Given the description of an element on the screen output the (x, y) to click on. 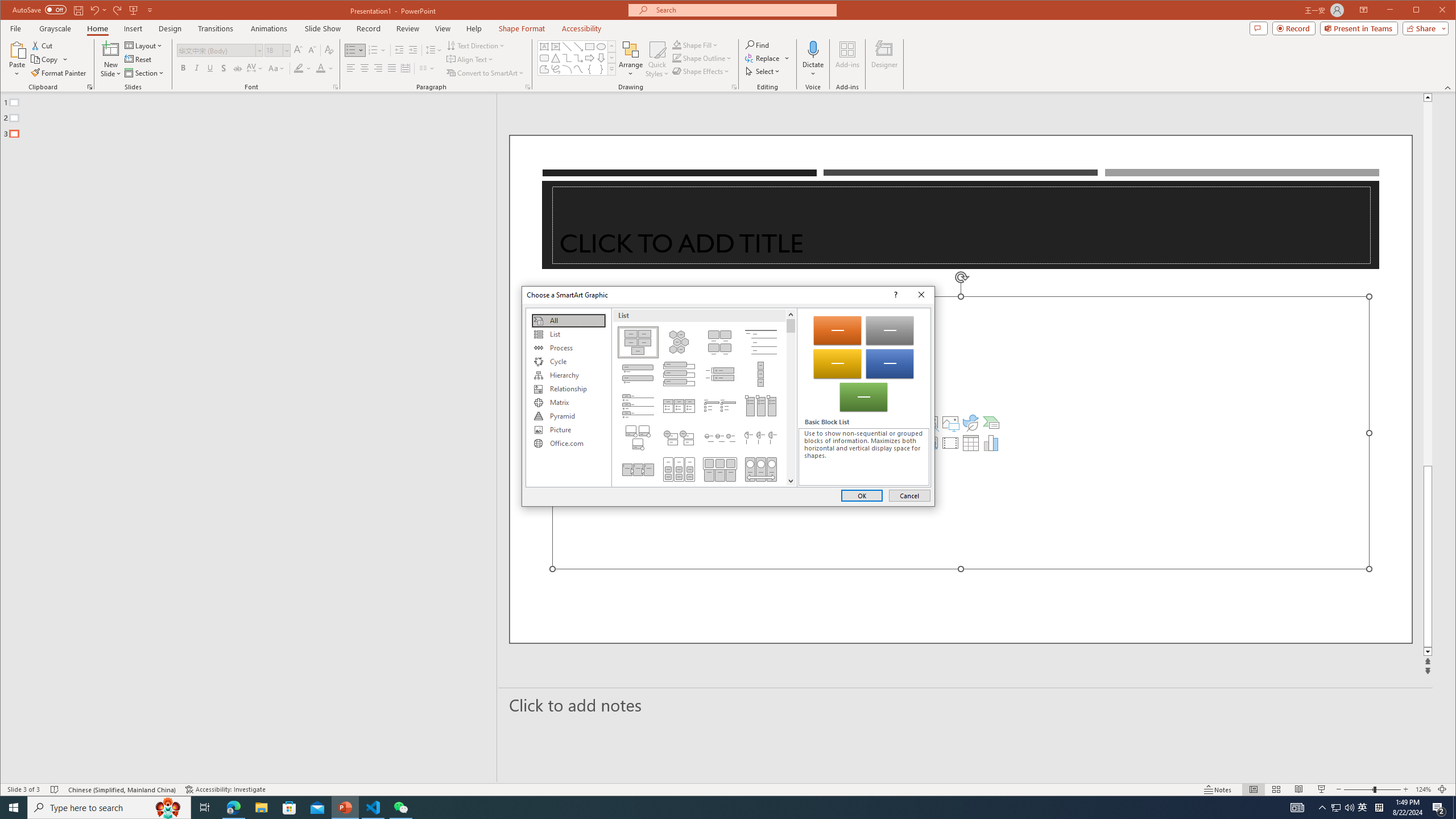
WeChat - 1 running window (400, 807)
Tab List (637, 405)
Running applications (707, 807)
Bending Picture Accent List (637, 437)
